Given the description of an element on the screen output the (x, y) to click on. 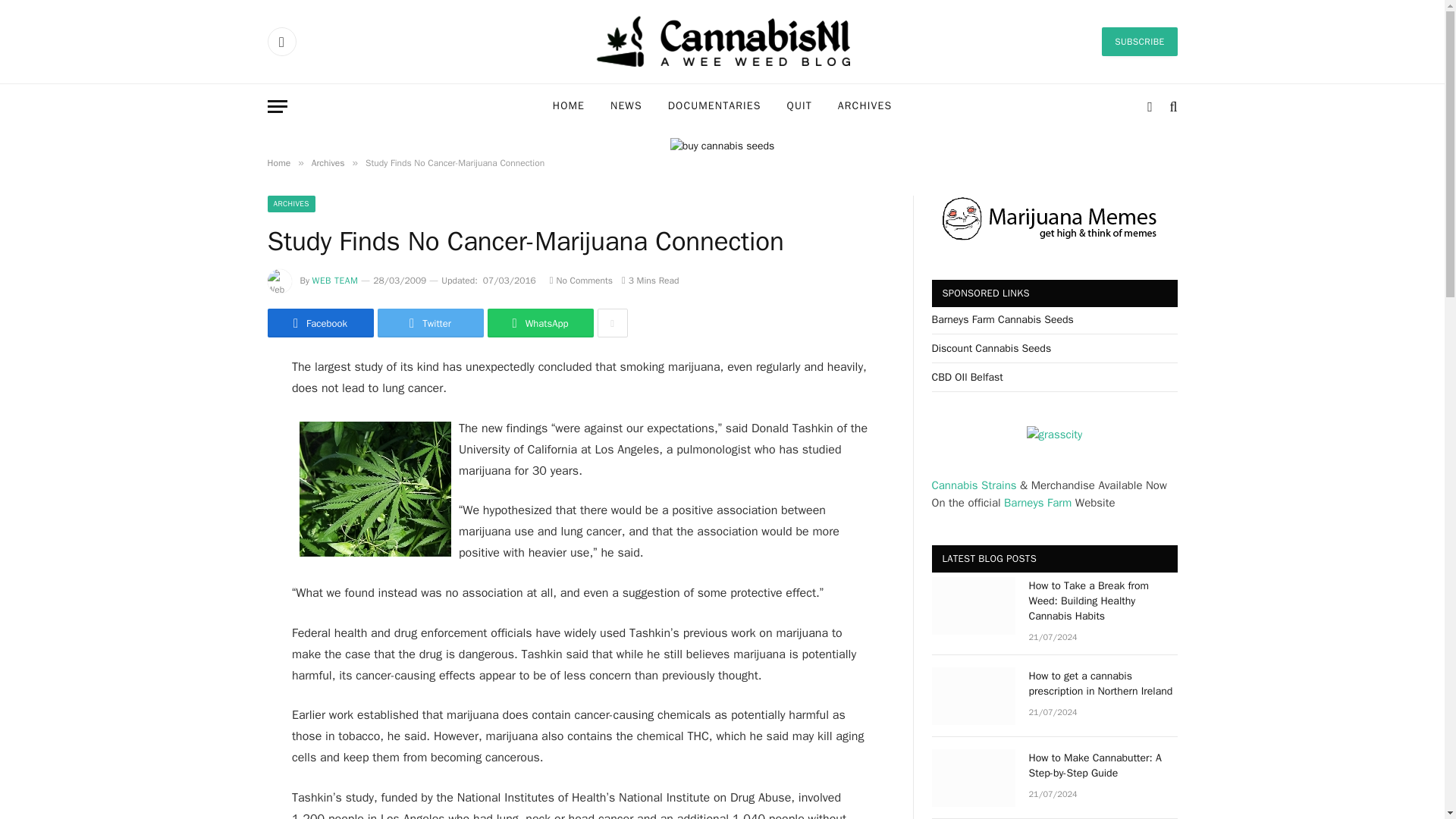
NEWS (625, 106)
WhatsApp (539, 322)
DOCUMENTARIES (714, 106)
Show More Social Sharing (611, 322)
Twitter (430, 322)
HOME (568, 106)
Home (277, 162)
RSS (280, 41)
Archives (328, 162)
Share on WhatsApp (539, 322)
SUBSCRIBE (1139, 41)
ARCHIVES (290, 203)
Switch to Dark Design - easier on eyes. (1149, 106)
Share on Facebook (319, 322)
ARCHIVES (864, 106)
